Given the description of an element on the screen output the (x, y) to click on. 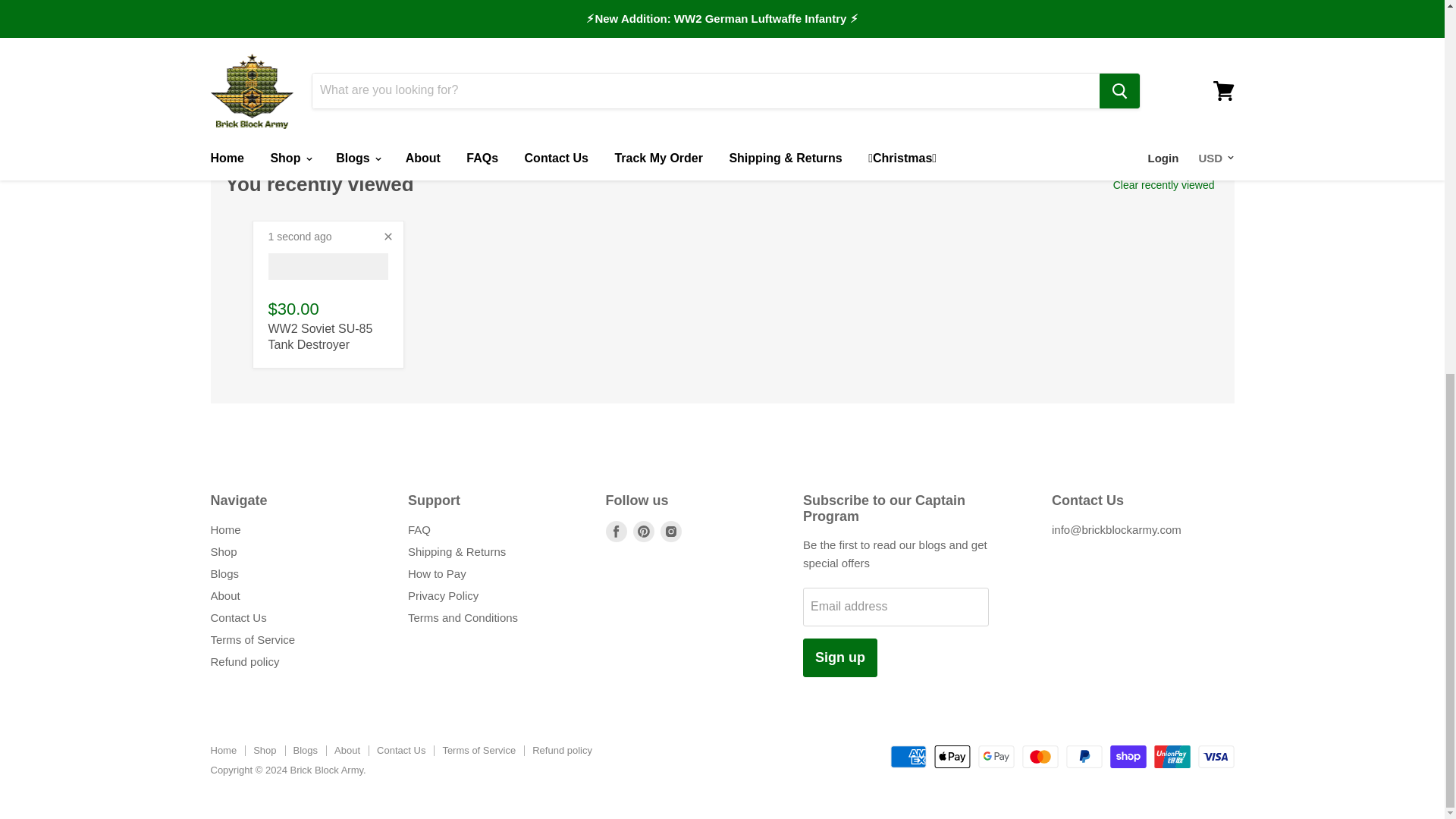
Mastercard (1040, 756)
Facebook (615, 531)
Union Pay (1172, 756)
Shop Pay (1128, 756)
Instagram (670, 531)
Google Pay (996, 756)
Apple Pay (952, 756)
Visa (1216, 756)
Pinterest (642, 531)
PayPal (1083, 756)
